Given the description of an element on the screen output the (x, y) to click on. 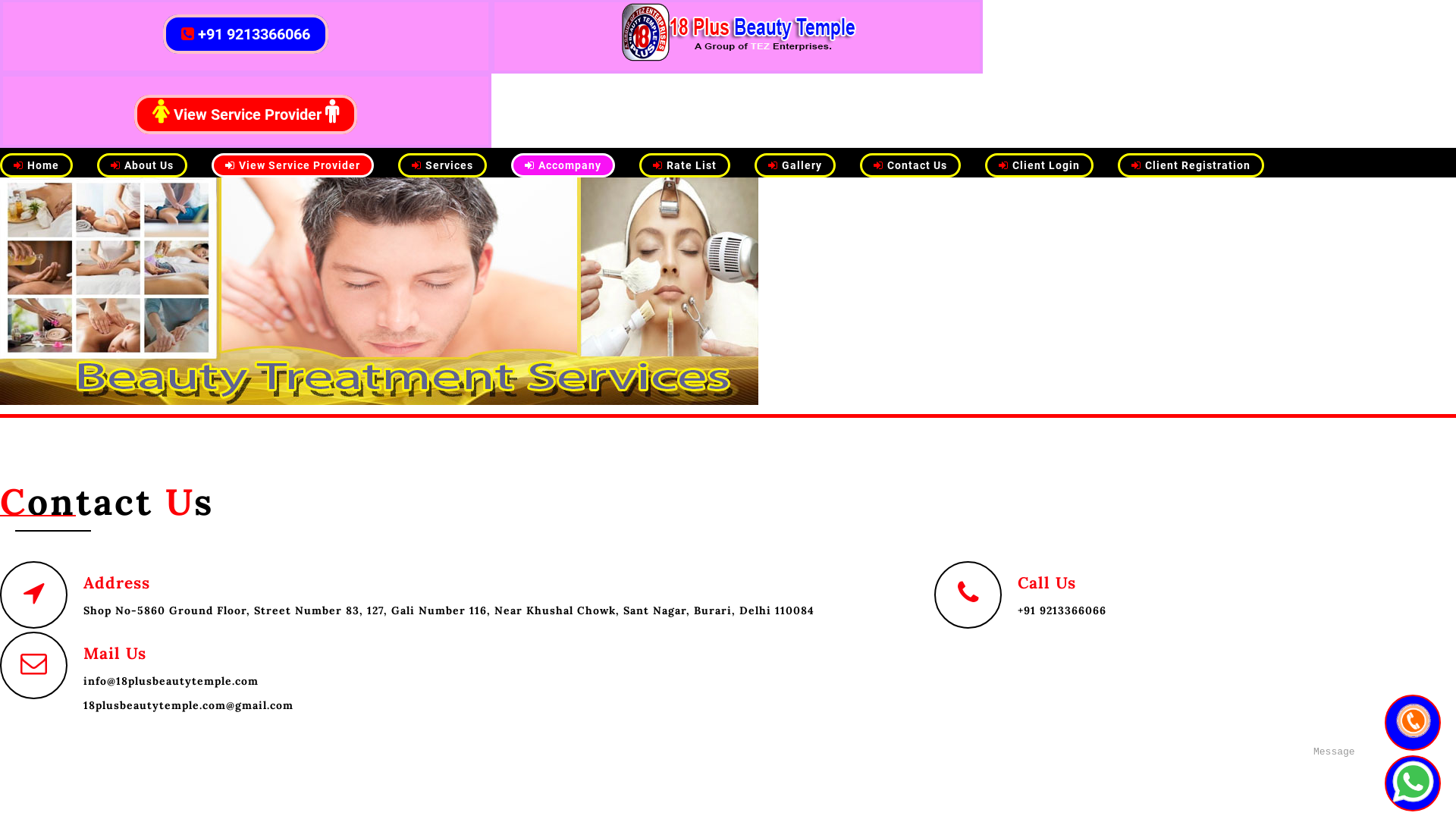
Rate List Element type: text (684, 165)
Client Login Element type: text (1039, 165)
View Service Provider Element type: text (245, 114)
Home Element type: text (36, 165)
Services Element type: text (442, 165)
Gallery Element type: text (794, 165)
+91 9213366066 Element type: text (245, 34)
View Service Provider Element type: text (292, 165)
Contact Us Element type: text (909, 165)
Click Here Call Element type: hover (1412, 721)
18plusbeautytemple.com@gmail.com Element type: text (188, 705)
info@18plusbeautytemple.com Element type: text (188, 681)
About Us Element type: text (142, 165)
Accompany Element type: text (563, 165)
Client Registration Element type: text (1190, 165)
Click Here For Whatsapp Message. Element type: hover (1412, 781)
